Given the description of an element on the screen output the (x, y) to click on. 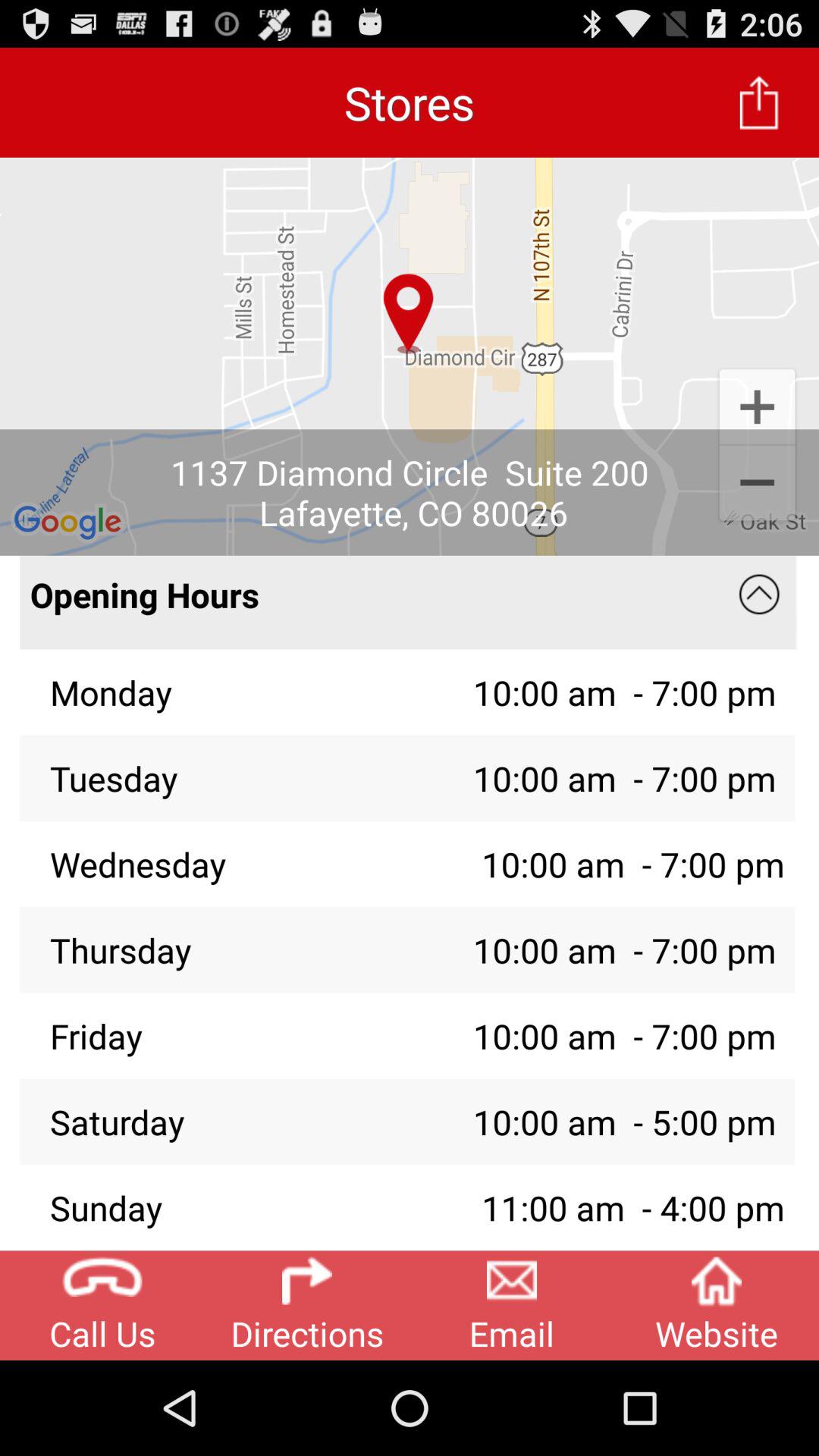
turn on item to the left of directions item (102, 1305)
